Given the description of an element on the screen output the (x, y) to click on. 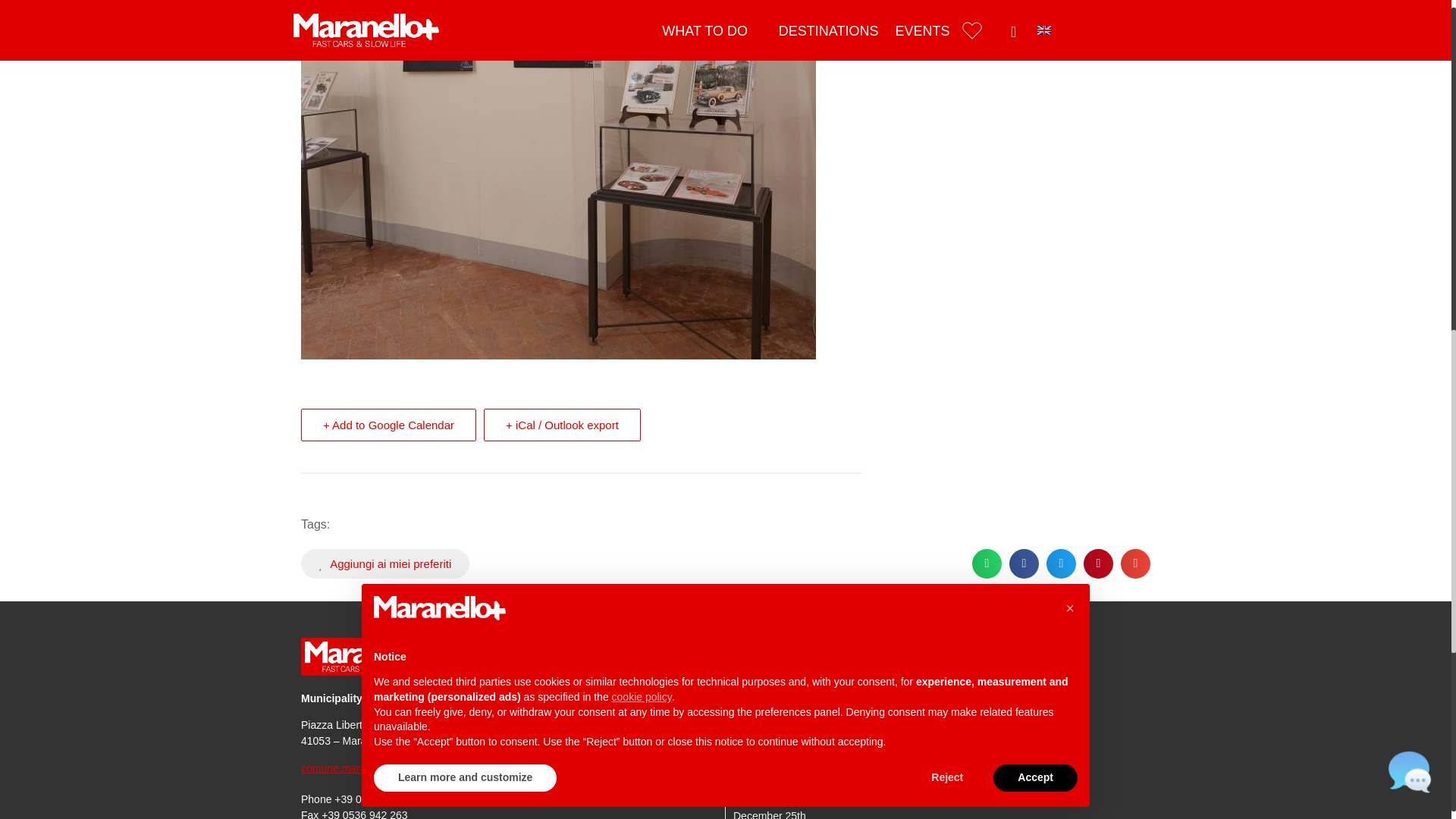
Aggiungi ai miei preferiti (384, 563)
